Given the description of an element on the screen output the (x, y) to click on. 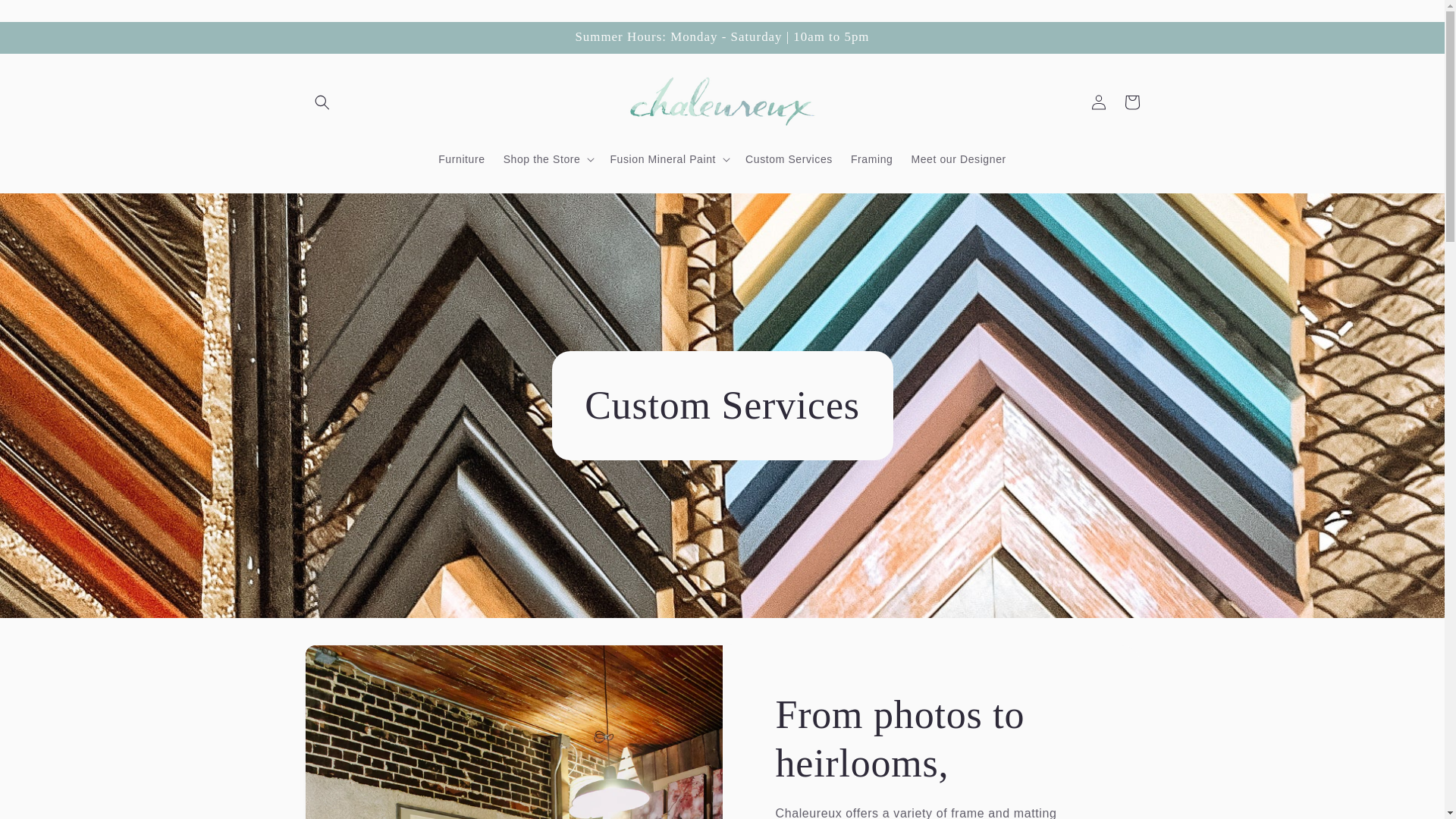
Custom Services (788, 159)
Framing (871, 159)
Furniture (461, 159)
Skip to content (45, 17)
Meet our Designer (957, 159)
